Given the description of an element on the screen output the (x, y) to click on. 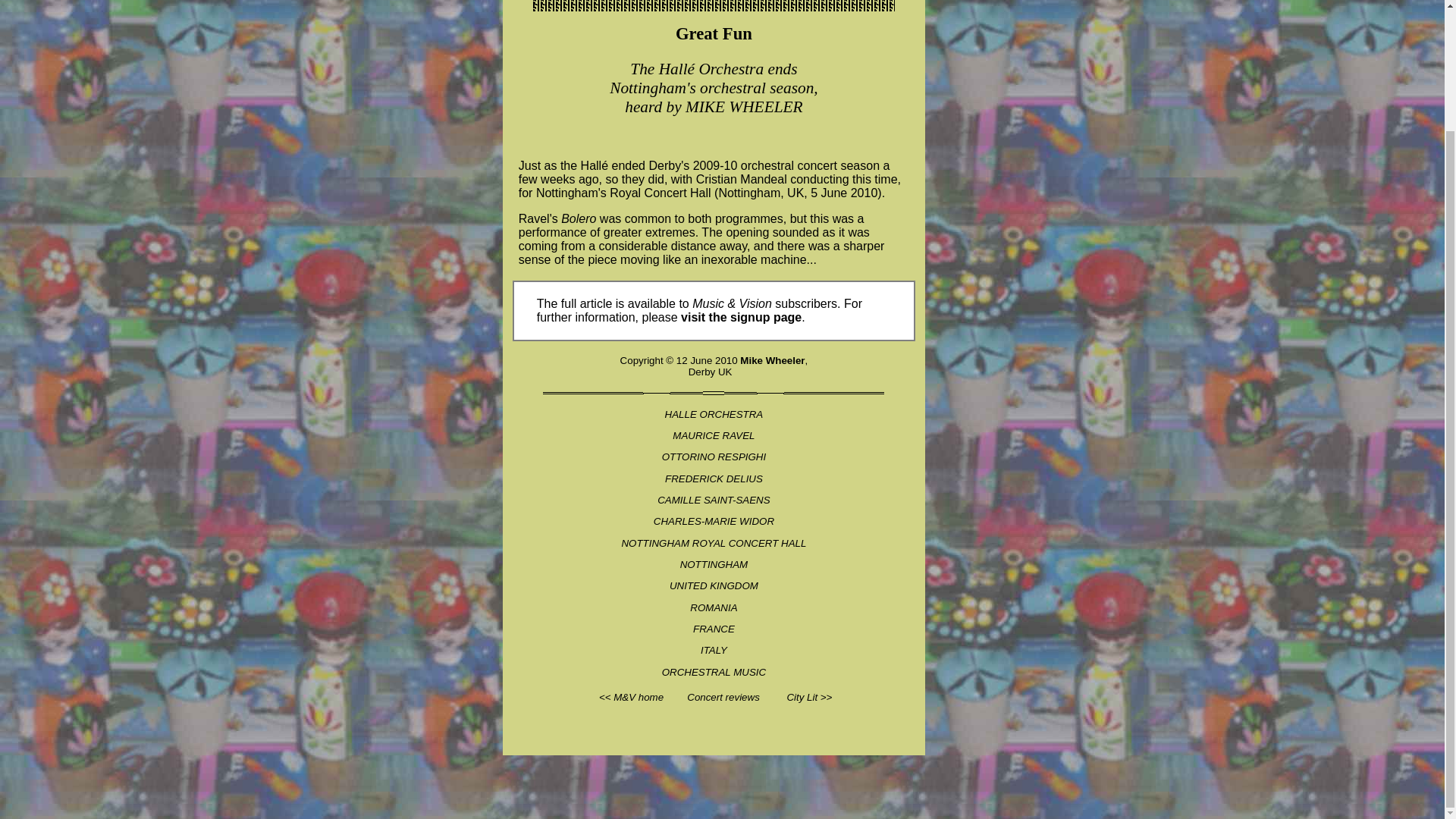
Ravel (534, 218)
Derby (664, 164)
ITALY (713, 650)
Royal Concert Hall (660, 192)
orchestral (767, 164)
CHARLES-MARIE WIDOR (713, 521)
ORCHESTRAL MUSIC (714, 672)
MAURICE RAVEL (713, 435)
HALLE ORCHESTRA (713, 414)
ROMANIA (713, 607)
